Given the description of an element on the screen output the (x, y) to click on. 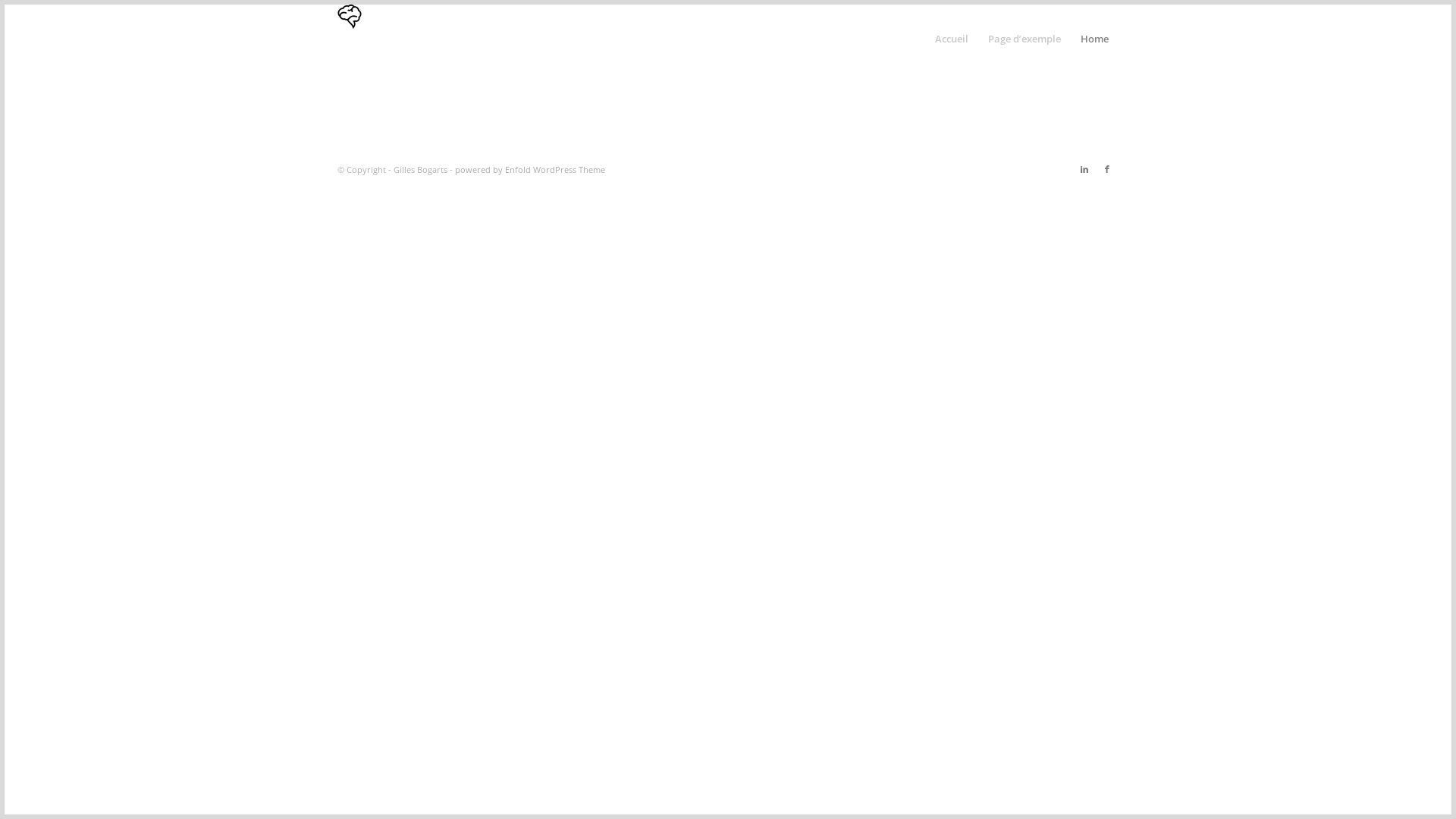
Accueil Element type: text (951, 38)
favicon Element type: hover (349, 16)
favicon Element type: hover (349, 38)
Facebook Element type: hover (1106, 168)
LinkedIn Element type: hover (1084, 168)
powered by Enfold WordPress Theme Element type: text (530, 169)
Home Element type: text (1094, 38)
